Given the description of an element on the screen output the (x, y) to click on. 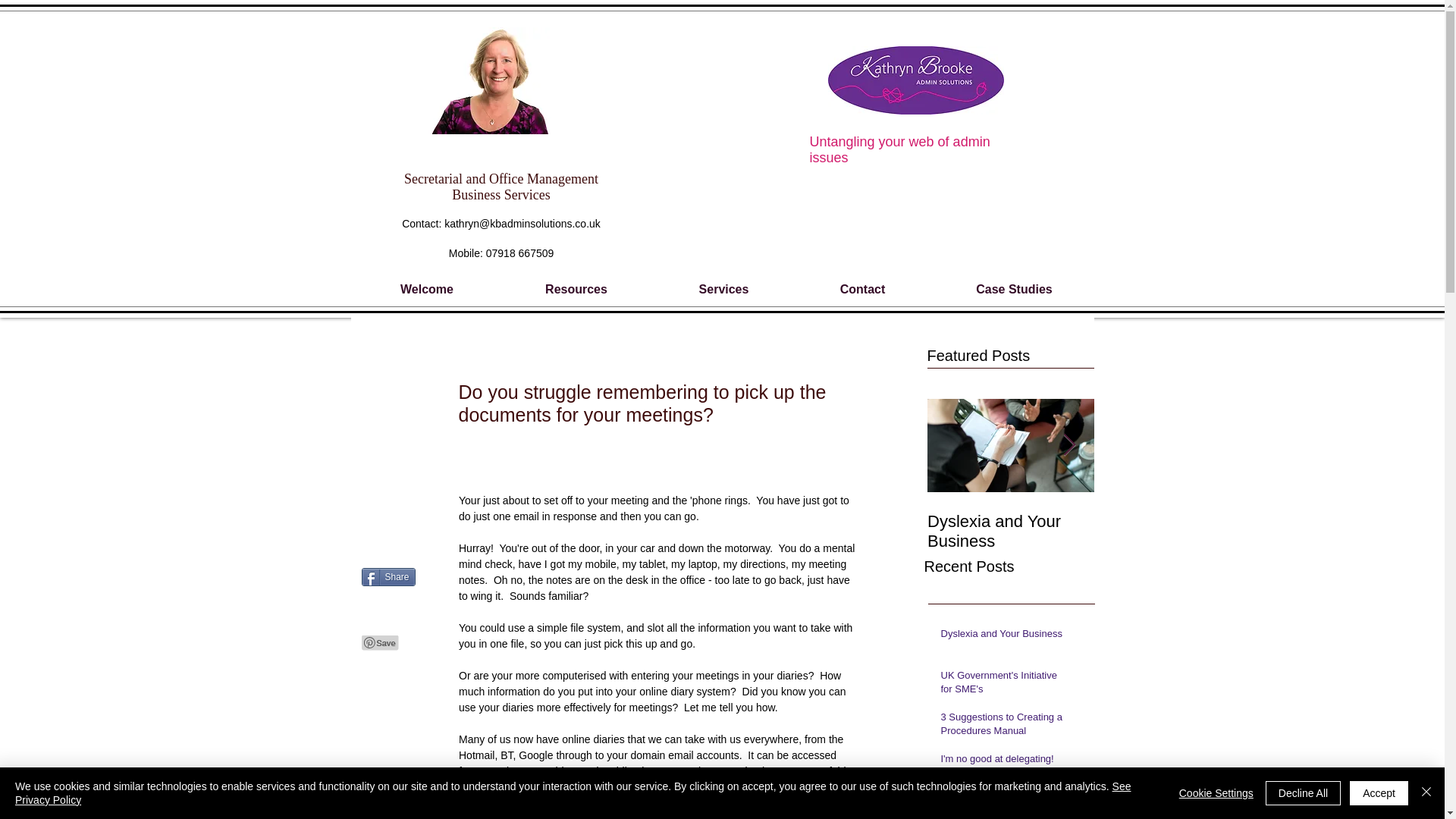
Welcome (427, 289)
Pin to Pinterest (379, 642)
Share (387, 577)
Amazing Clients! (1005, 803)
Dyslexia and Your Business (1005, 637)
Resources (575, 289)
Dyslexia and Your Business (1009, 531)
Contact (862, 289)
I'm no good at delegating! (1005, 762)
UK Government's Initiative for SME's (1176, 531)
